Given the description of an element on the screen output the (x, y) to click on. 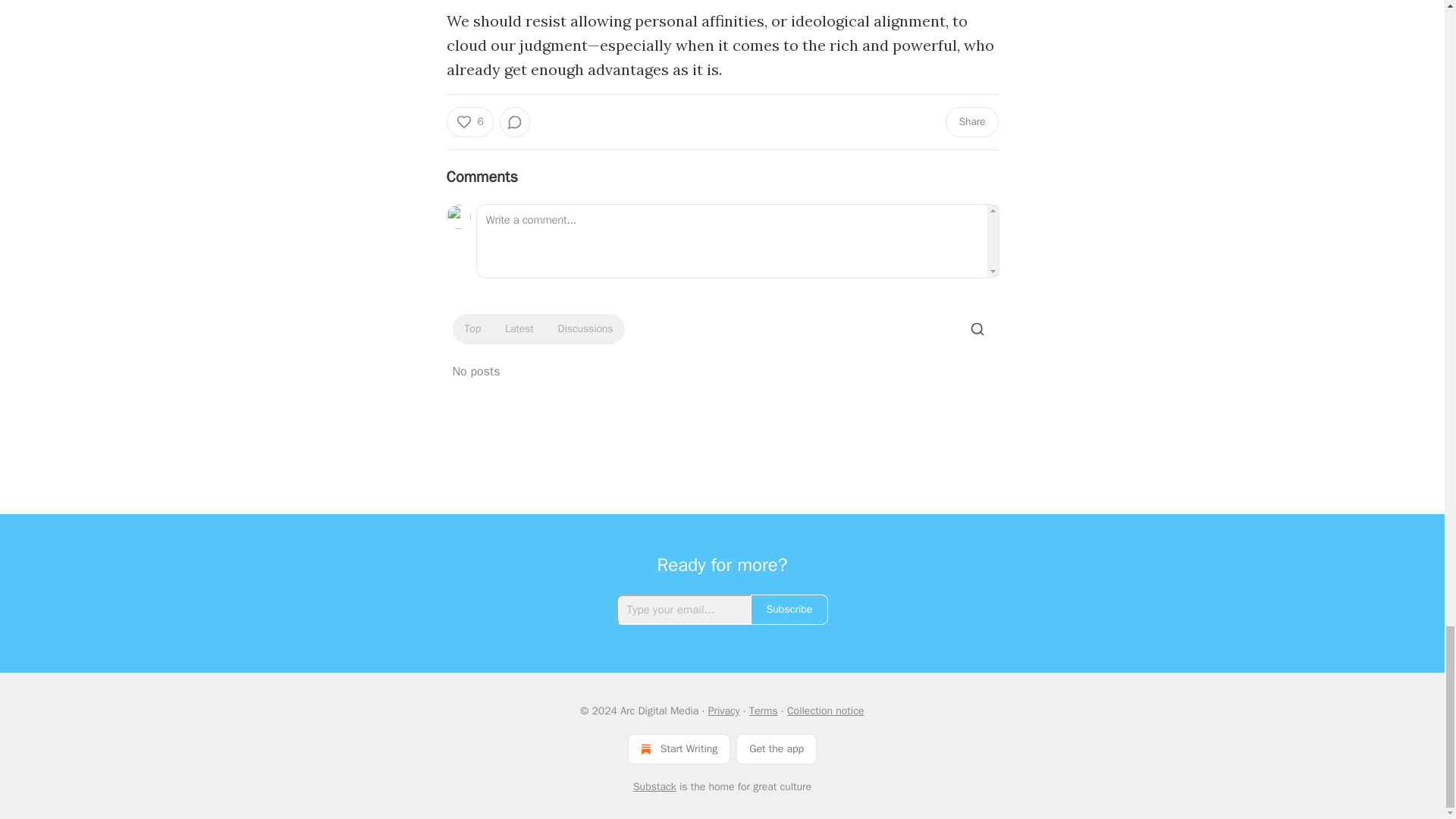
Subscribe (789, 609)
Discussions (585, 328)
Latest (518, 328)
6 (469, 122)
Share (970, 122)
Top (471, 328)
